Given the description of an element on the screen output the (x, y) to click on. 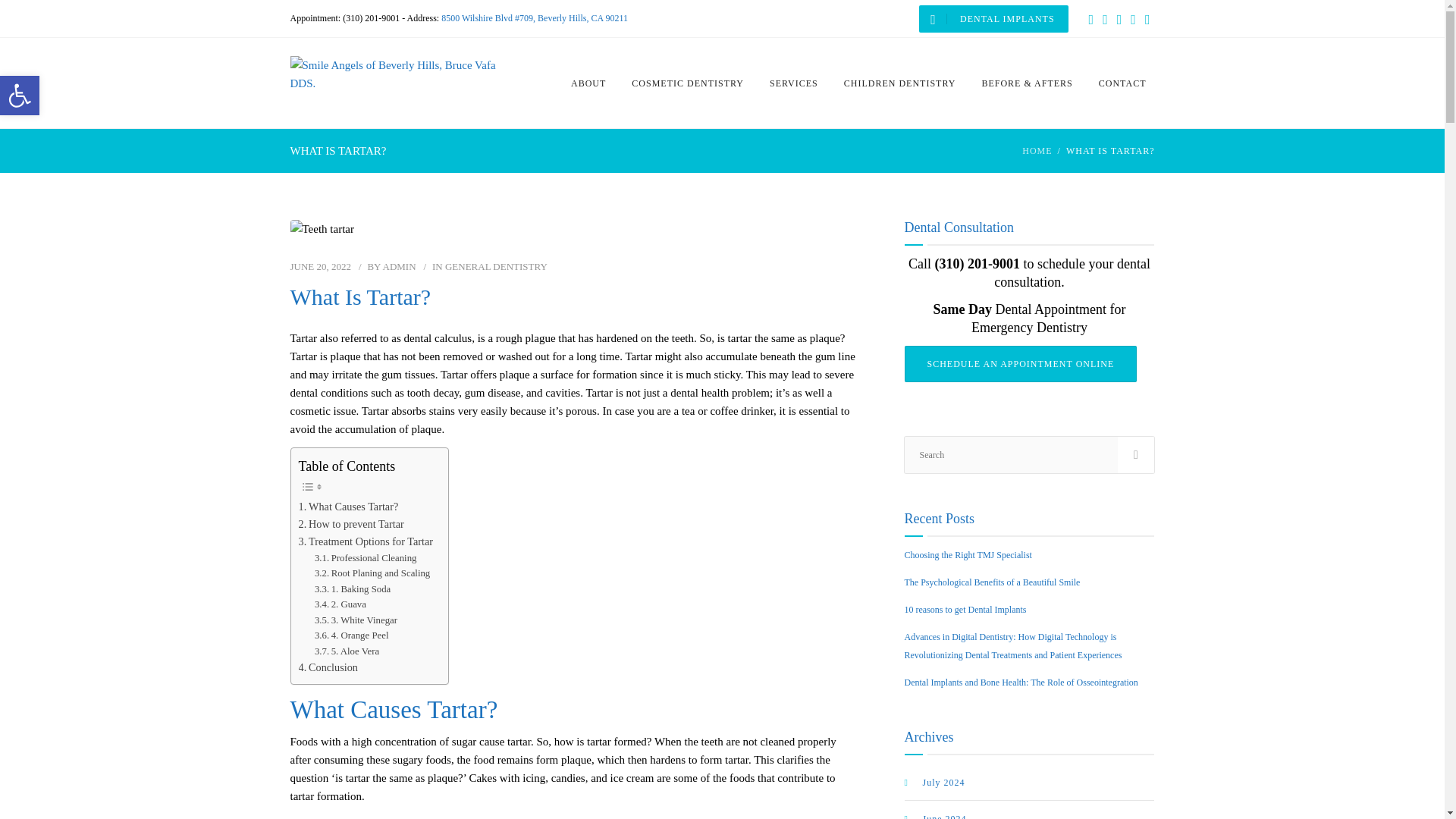
What Causes Tartar? (348, 506)
2. Guava (340, 604)
5. Aloe Vera (346, 651)
1. Baking Soda (352, 589)
Treatment Options for Tartar (365, 541)
4. Orange Peel (351, 635)
Conclusion (328, 667)
How to prevent Tartar (351, 524)
Accessibility Tools (19, 95)
Professional Cleaning (365, 558)
3. White Vinegar (355, 620)
Root Planing and Scaling (371, 573)
